Given the description of an element on the screen output the (x, y) to click on. 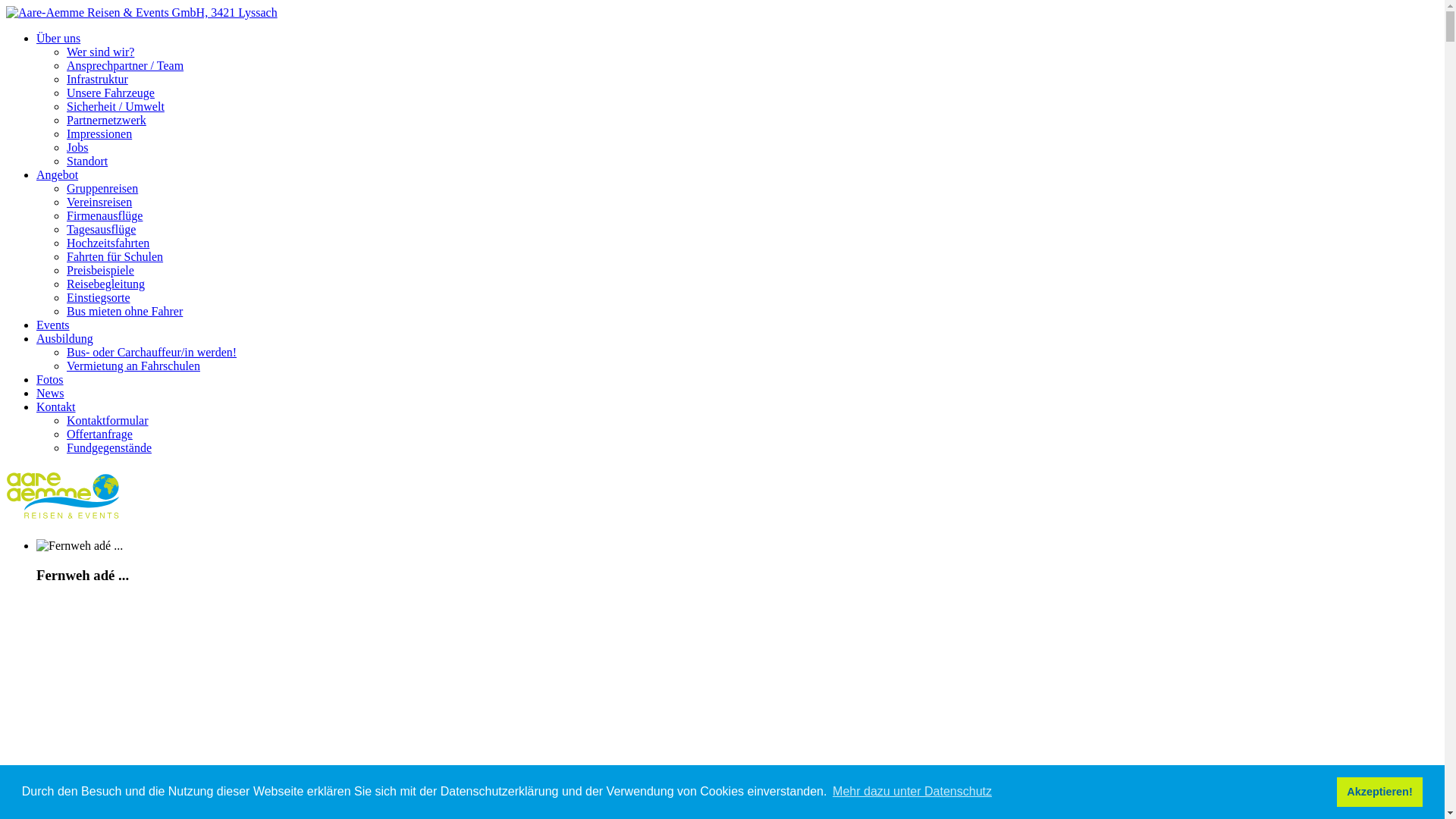
Vermietung an Fahrschulen Element type: text (133, 365)
Impressionen Element type: text (98, 133)
Fotos Element type: text (49, 379)
Offertanfrage Element type: text (99, 433)
Sicherheit / Umwelt Element type: text (115, 106)
Angebot Element type: text (57, 174)
Jobs Element type: text (76, 147)
Akzeptieren! Element type: text (1379, 791)
Gruppenreisen Element type: text (102, 188)
Ausbildung Element type: text (64, 338)
Hochzeitsfahrten Element type: text (107, 242)
News Element type: text (49, 392)
Wer sind wir? Element type: text (100, 51)
Ansprechpartner / Team Element type: text (124, 65)
Partnernetzwerk Element type: text (106, 119)
Einstiegsorte Element type: text (98, 297)
Infrastruktur Element type: text (97, 78)
Unsere Fahrzeuge Element type: text (110, 92)
Bus mieten ohne Fahrer Element type: text (124, 310)
Standort Element type: text (86, 160)
Reisebegleitung Element type: text (105, 283)
Vereinsreisen Element type: text (98, 201)
Preisbeispiele Element type: text (100, 269)
Kontakt Element type: text (55, 406)
Kontaktformular Element type: text (107, 420)
Mehr dazu unter Datenschutz Element type: text (912, 791)
Events Element type: text (52, 324)
Bus- oder Carchauffeur/in werden! Element type: text (151, 351)
